Given the description of an element on the screen output the (x, y) to click on. 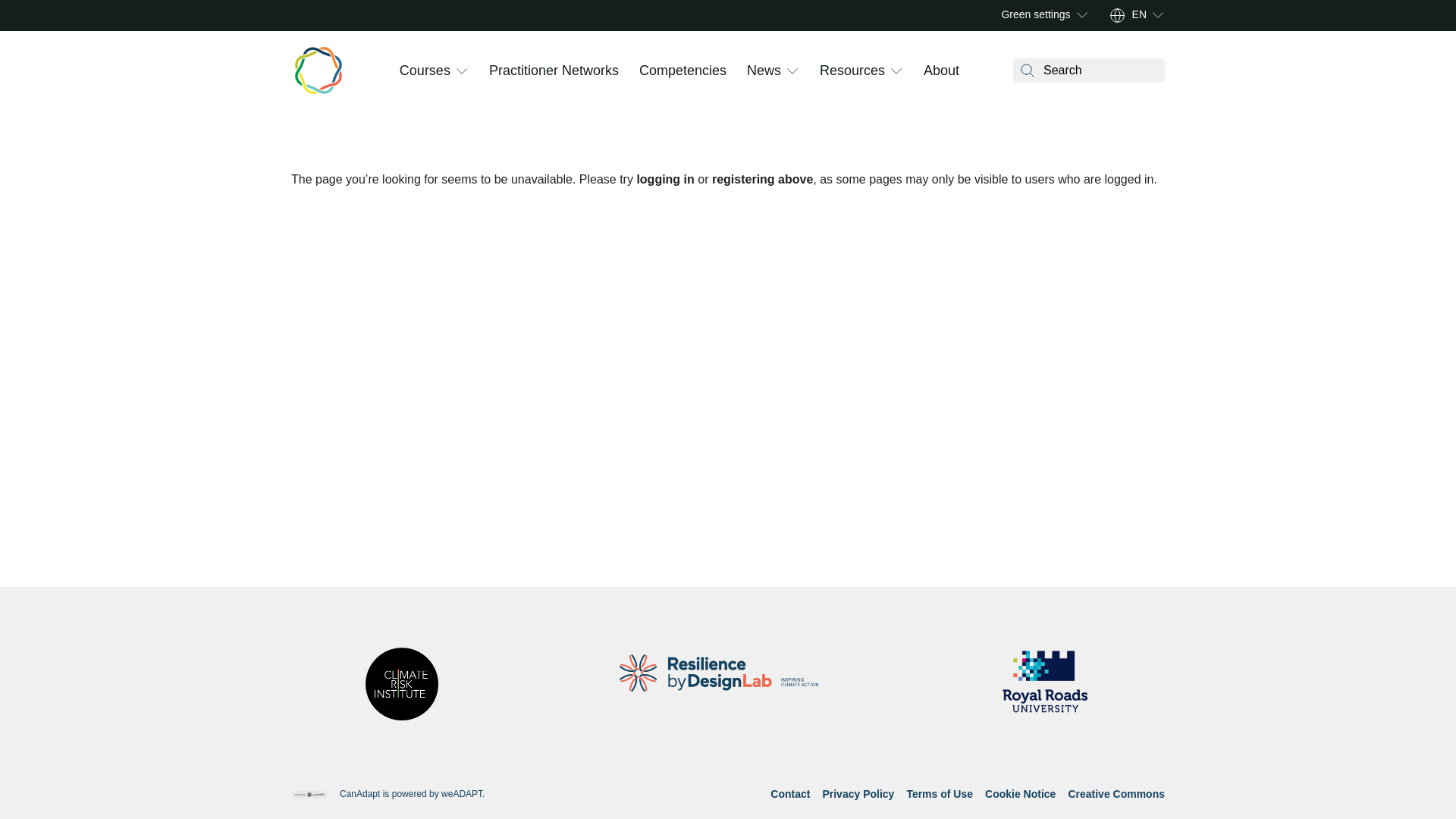
Resources (852, 69)
Terms of Use (938, 793)
Cookie Notice (1020, 793)
Competencies (682, 69)
Courses Submenu (461, 69)
Resources Submenu (895, 69)
Submenu (1082, 14)
Creative Commons (1115, 793)
About (941, 69)
Contact (789, 793)
Practitioner Networks (553, 69)
Green settings (1035, 14)
EN (1139, 14)
News Submenu (792, 69)
Main Logo (318, 70)
